Given the description of an element on the screen output the (x, y) to click on. 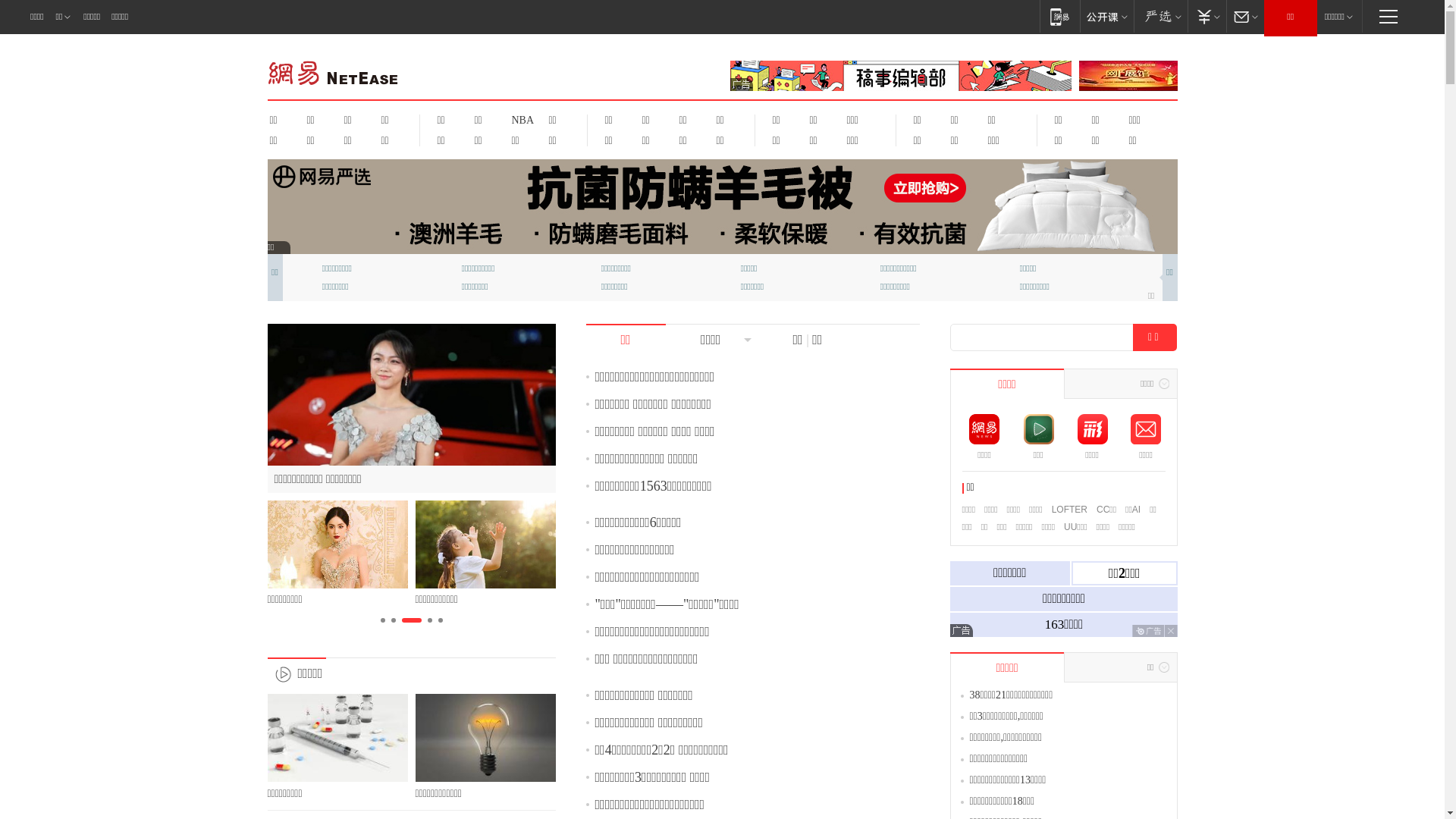
LOFTER Element type: text (1069, 509)
NBA Element type: text (520, 119)
